Given the description of an element on the screen output the (x, y) to click on. 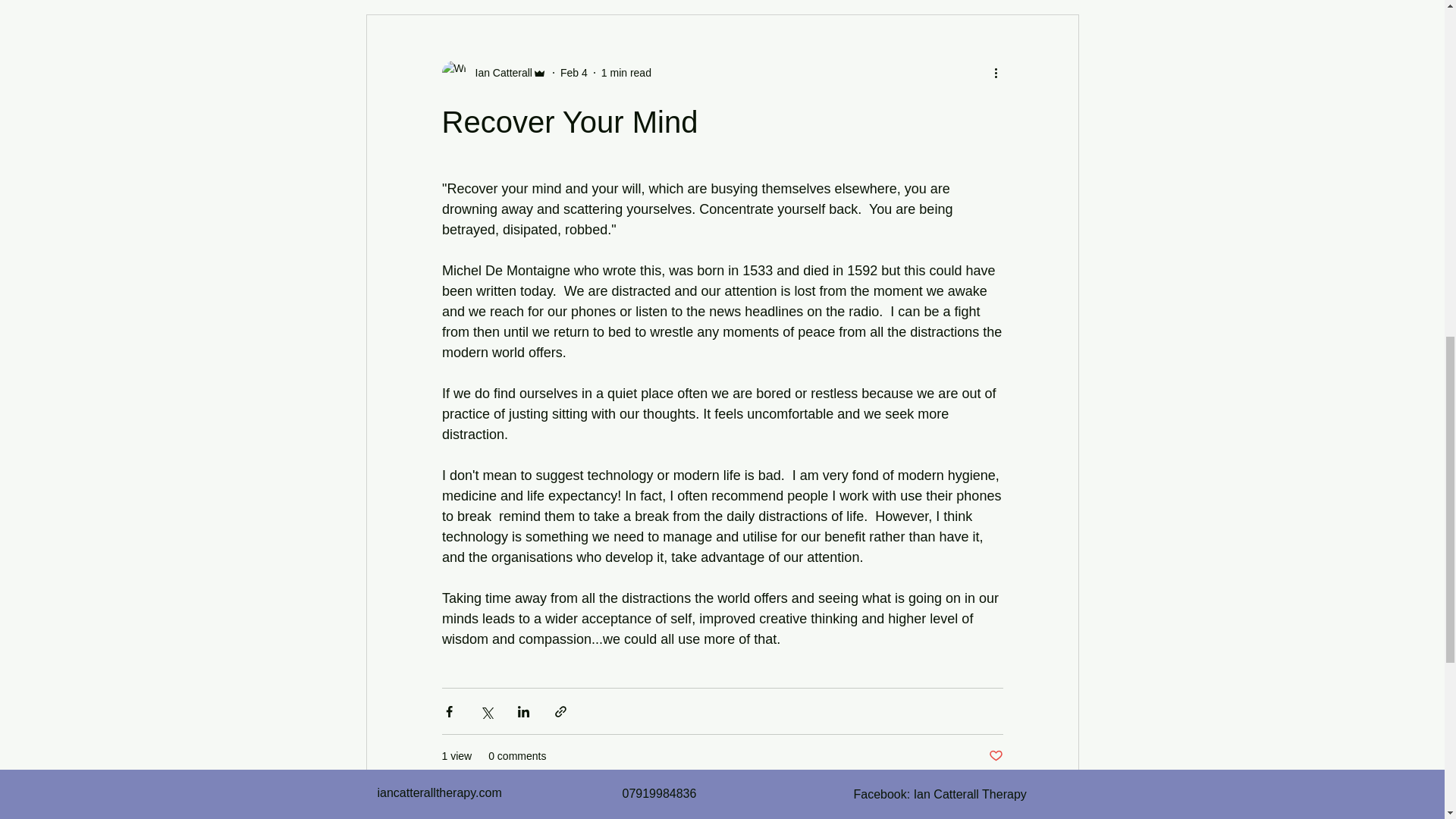
Ian Catterall (493, 72)
1 min read (625, 72)
Post not marked as liked (995, 756)
Feb 4 (574, 72)
Ian Catterall (498, 73)
